Given the description of an element on the screen output the (x, y) to click on. 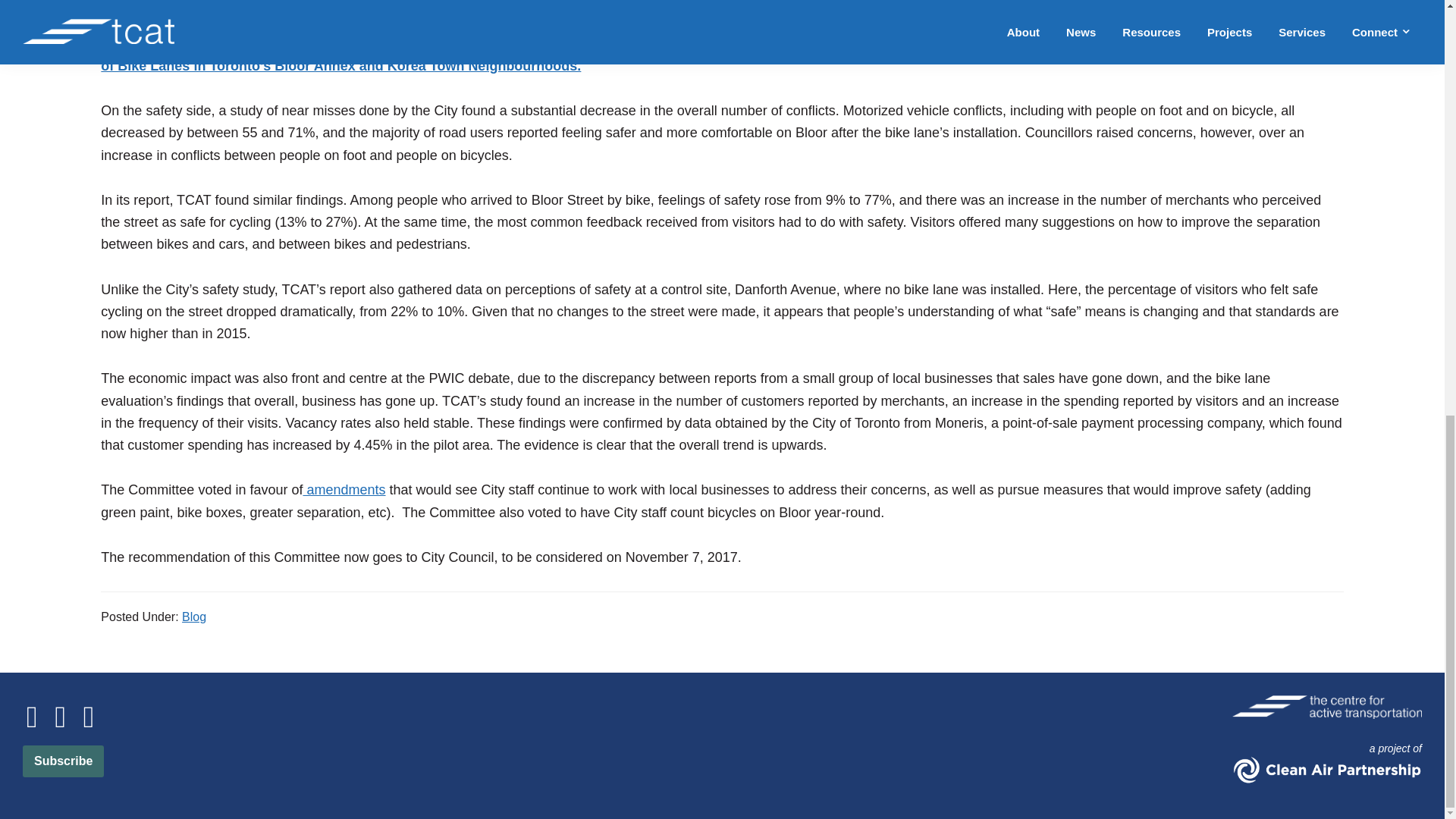
amendments (343, 489)
Subscribe (63, 761)
Blog (194, 616)
